Given the description of an element on the screen output the (x, y) to click on. 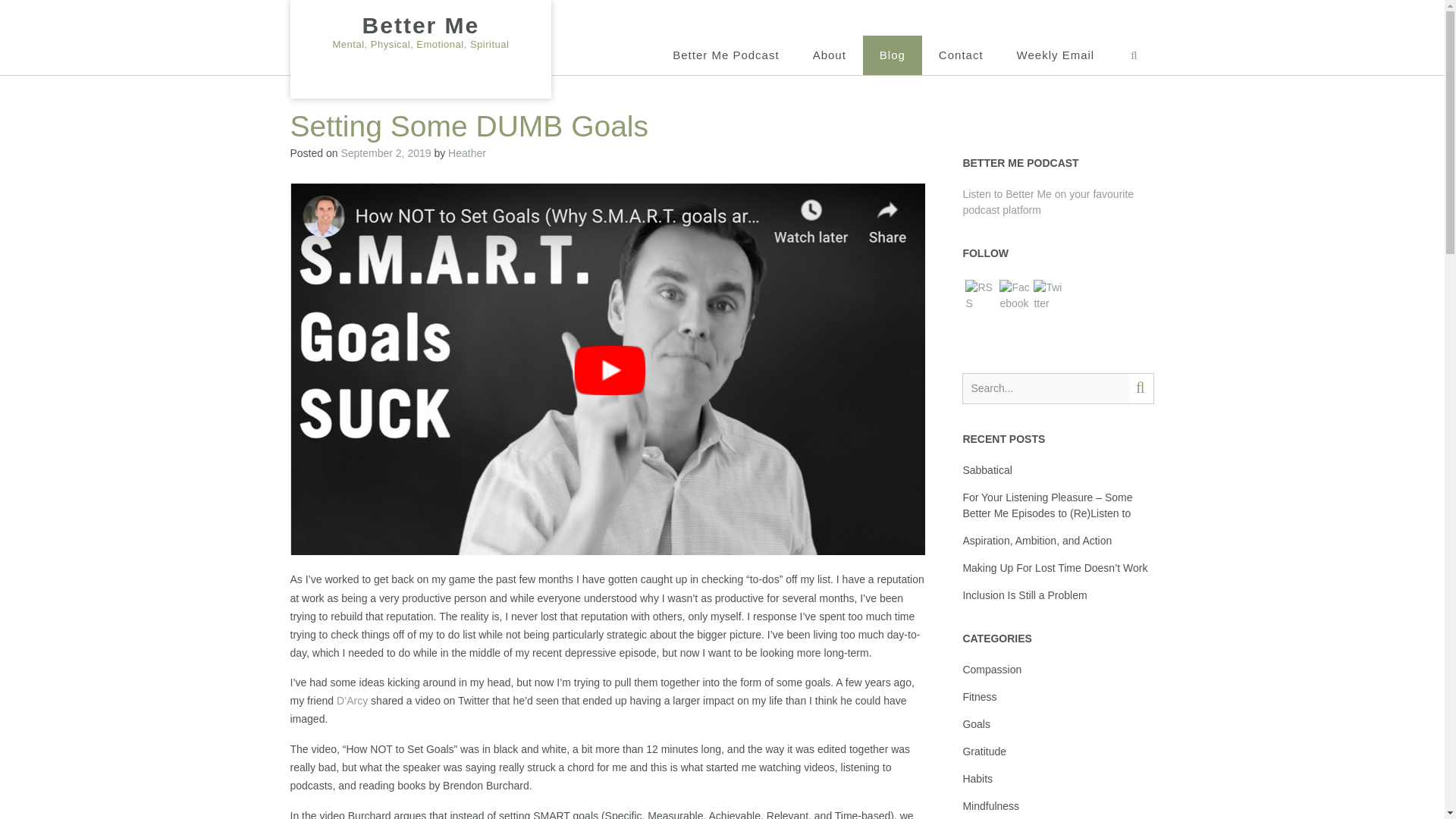
Aspiration, Ambition, and Action (1037, 540)
Better Me Podcast (725, 55)
Compassion (992, 669)
Better Me (419, 25)
Sabbatical (986, 469)
About (829, 55)
Contact (960, 55)
Search for: (1045, 388)
Listen to Better Me on your favourite podcast platform (1048, 202)
Goals (976, 724)
Weekly Email (1056, 55)
Heather (467, 152)
Twitter (1048, 296)
Mindfulness (990, 806)
RSS (980, 296)
